Given the description of an element on the screen output the (x, y) to click on. 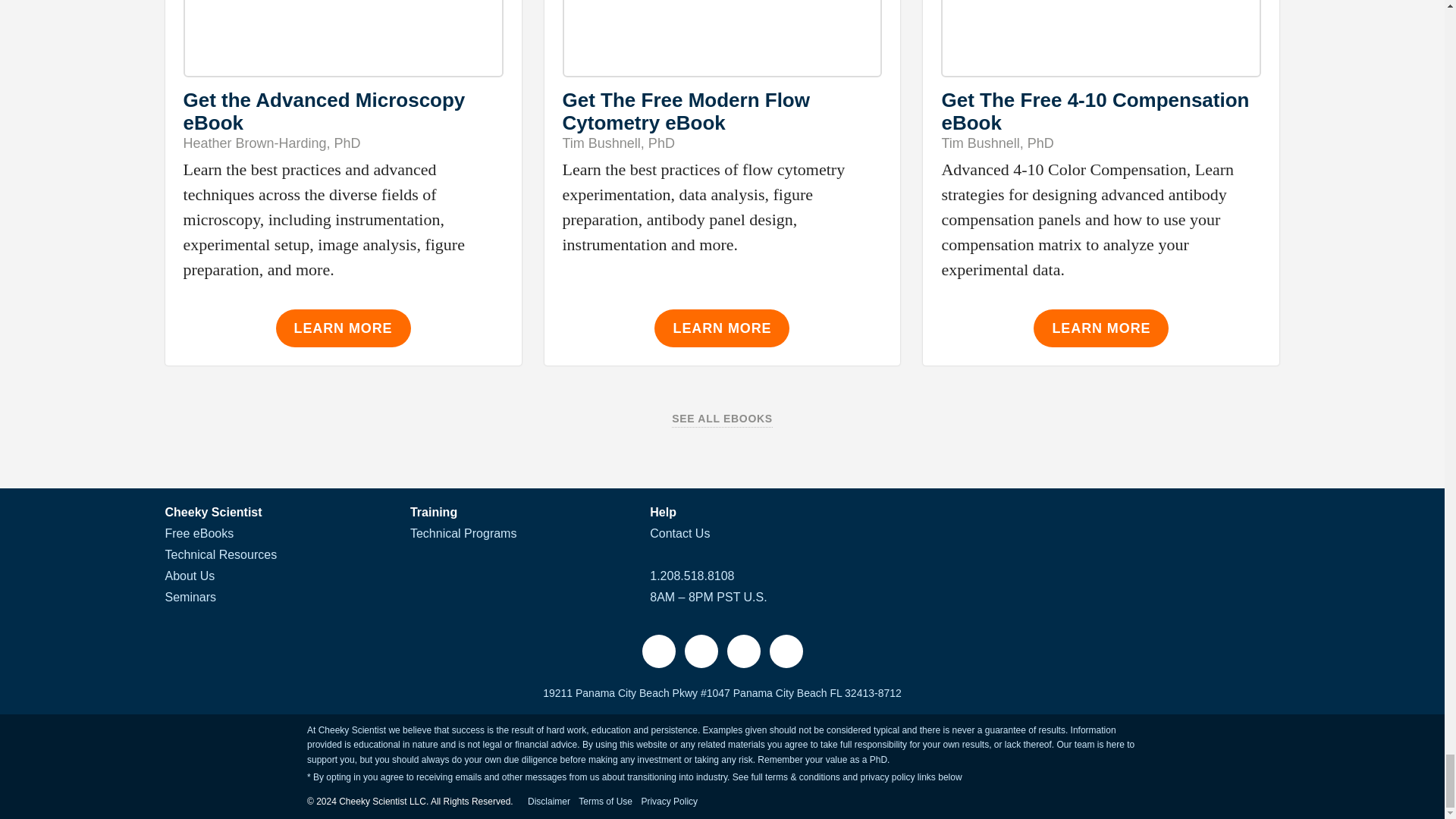
Cheeky Scientist on Twitter (700, 651)
Cheeky Scientist on LinkedIn (785, 651)
Cheeky Scientist on Facebook (658, 651)
Cheeky Scientist on Youtube (743, 651)
